Given the description of an element on the screen output the (x, y) to click on. 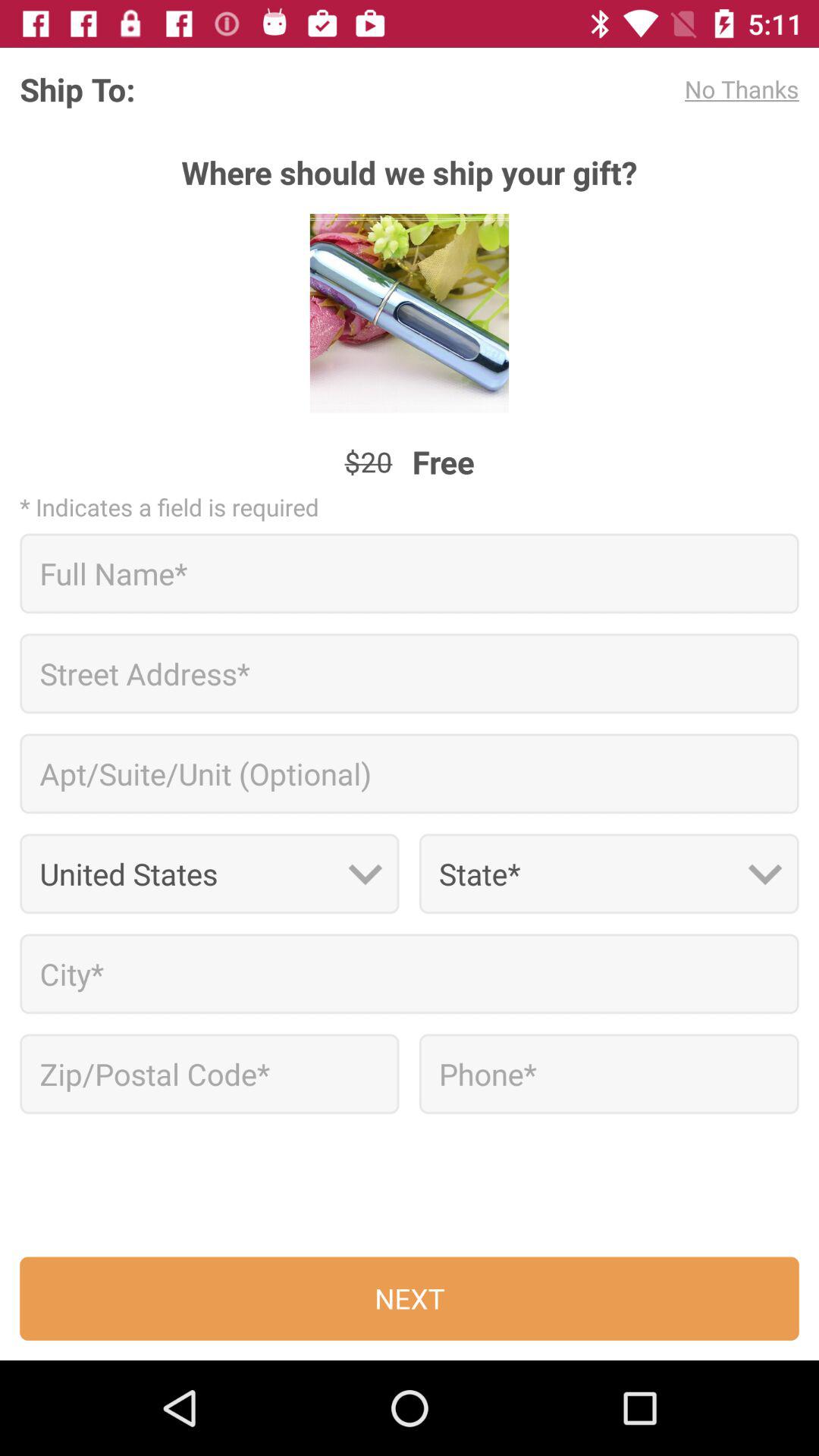
enter information line (409, 673)
